Given the description of an element on the screen output the (x, y) to click on. 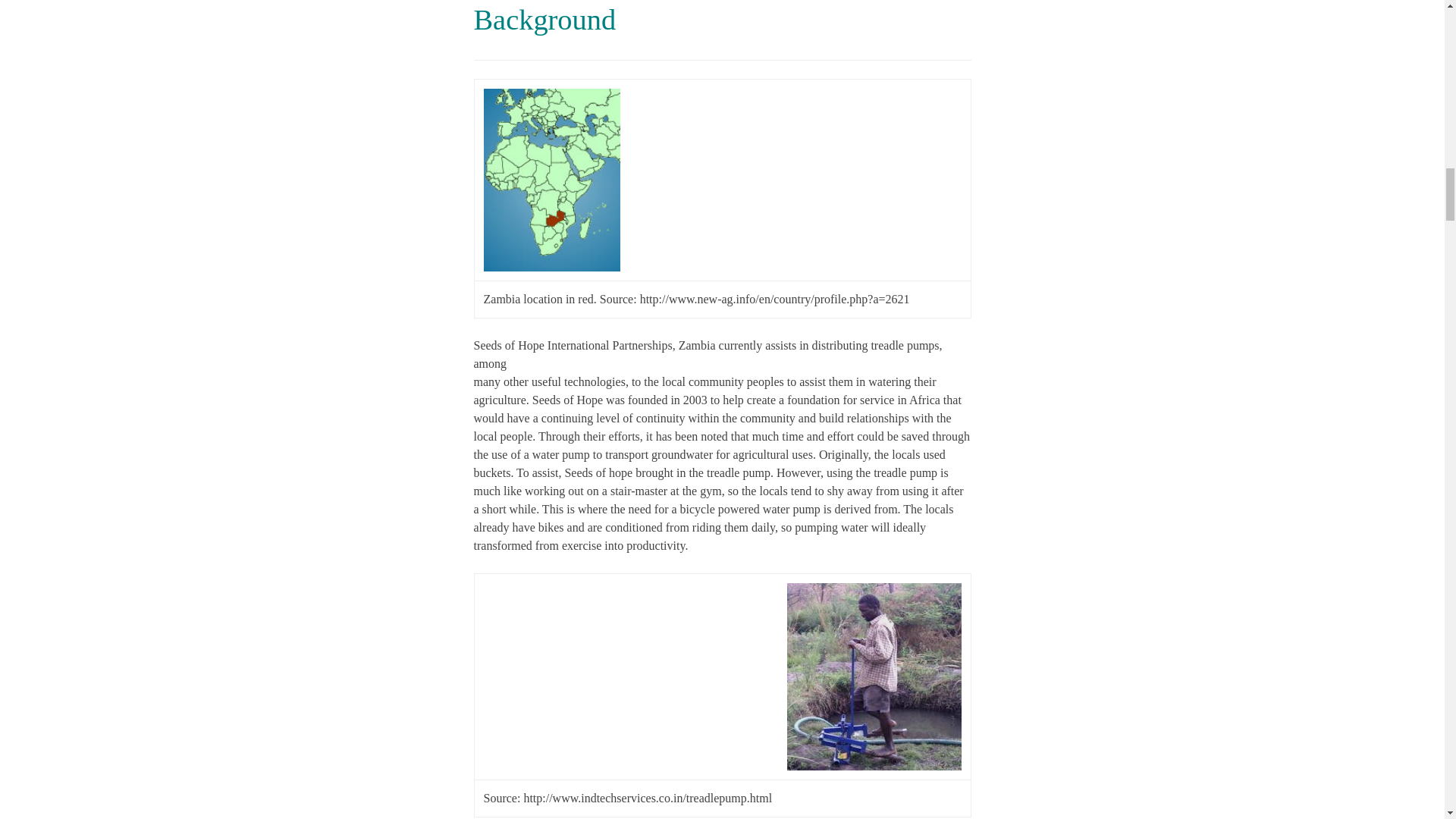
treadle-pump-at-work.jpg (873, 676)
